Given the description of an element on the screen output the (x, y) to click on. 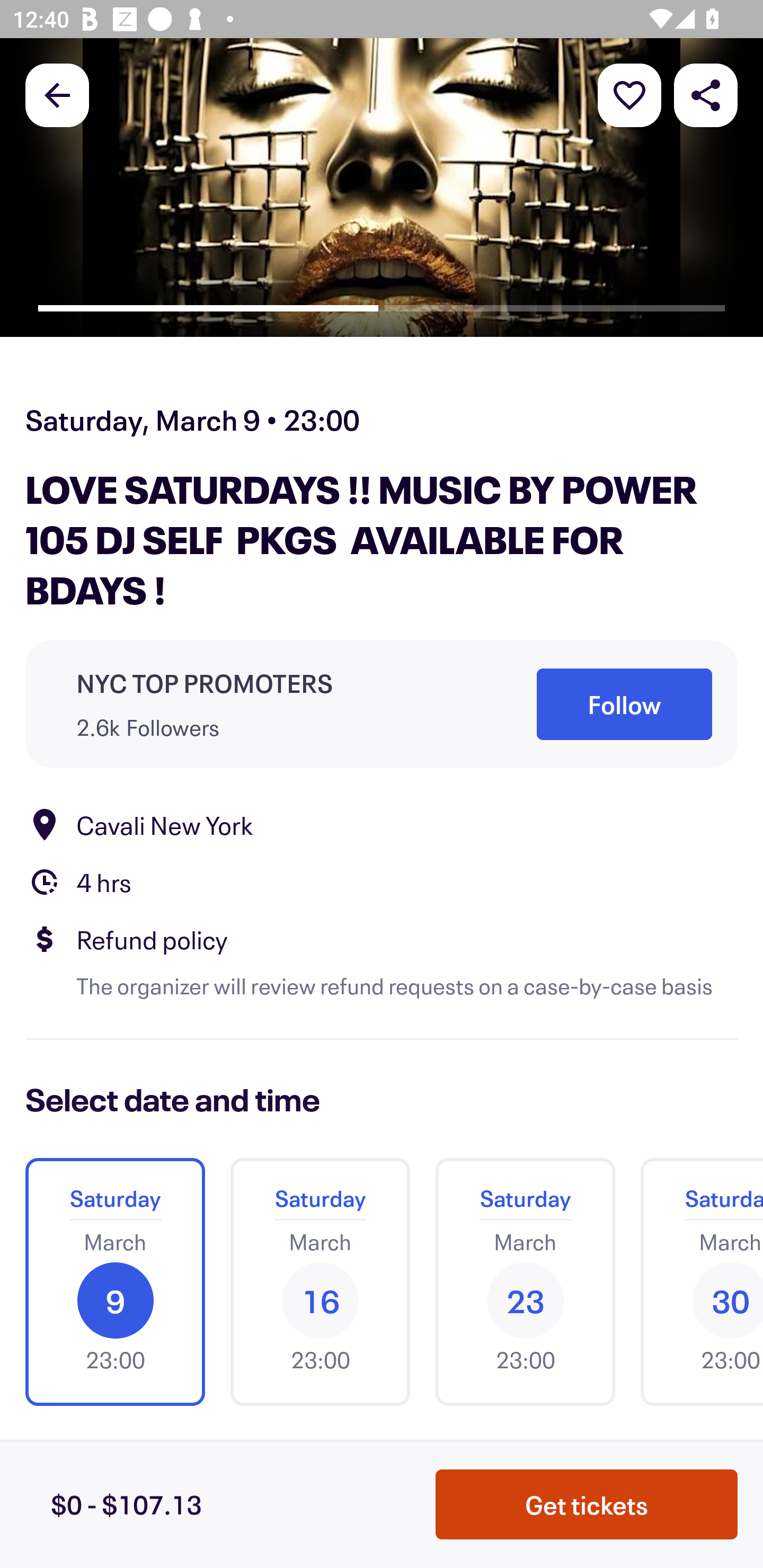
Back (57, 94)
More (629, 94)
Share (705, 94)
NYC TOP PROMOTERS (204, 682)
Follow (623, 704)
Location Cavali New York (381, 824)
Saturday March 9 23:00 (114, 1281)
Saturday March 16 23:00 (319, 1281)
Saturday March 23 23:00 (524, 1281)
Saturday March 30 23:00 (695, 1281)
Get tickets (586, 1504)
